Given the description of an element on the screen output the (x, y) to click on. 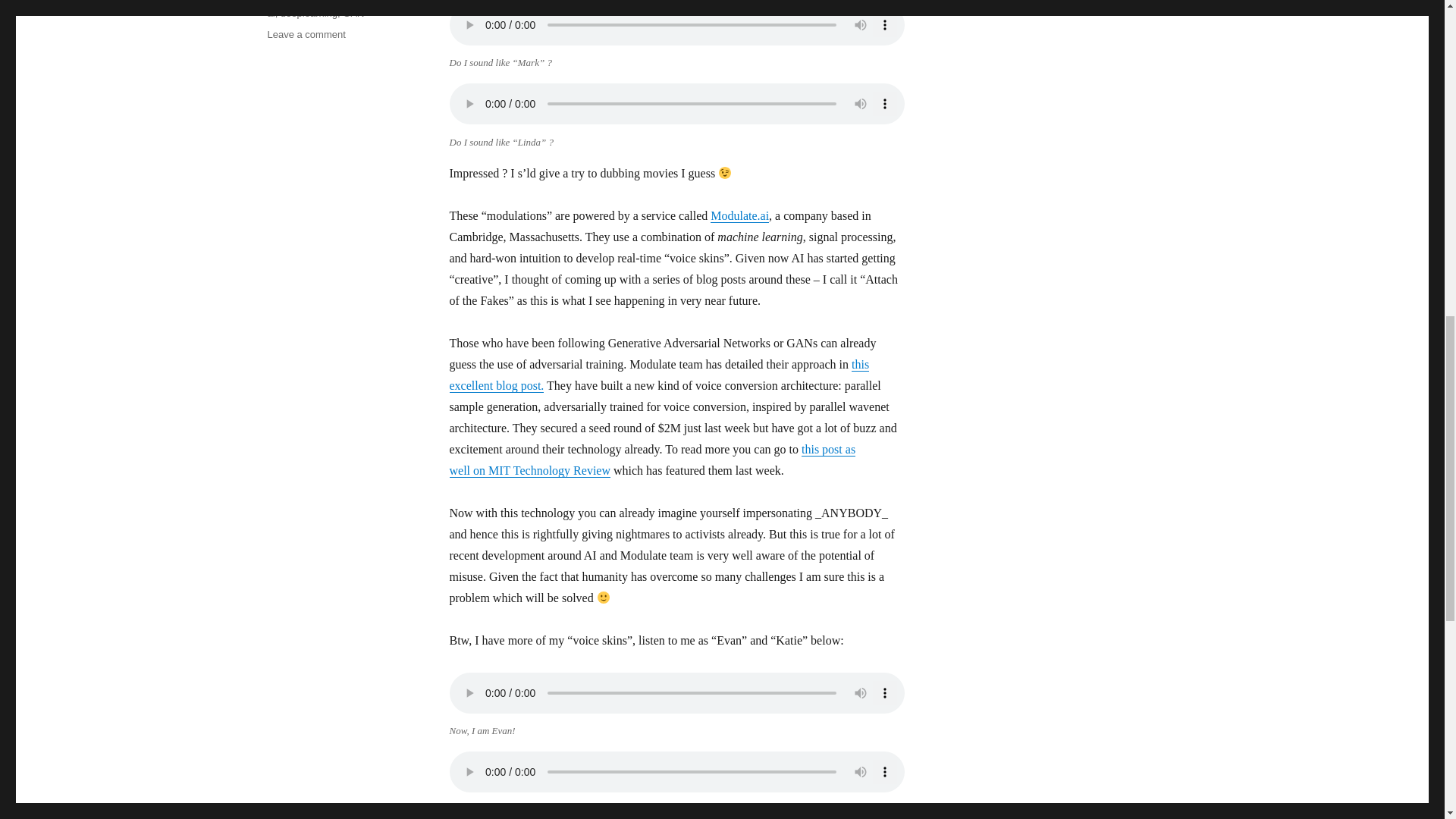
this excellent blog post. (658, 374)
Modulate.ai (739, 215)
ai (270, 12)
deeplearning (309, 12)
GAN (353, 12)
this post as well on MIT Technology Review (652, 459)
